Given the description of an element on the screen output the (x, y) to click on. 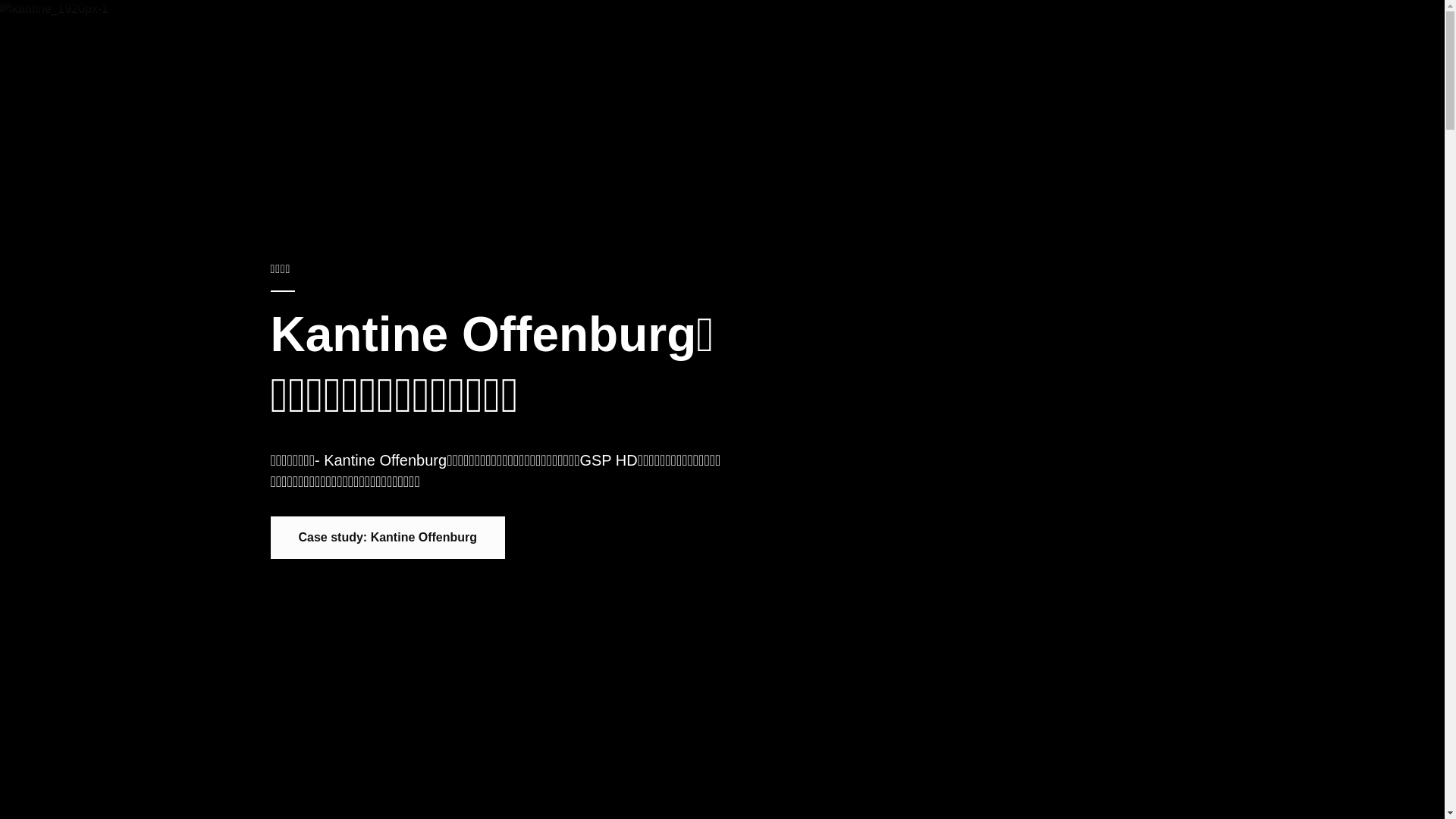
Case study: Kantine Offenburg Element type: text (387, 537)
